Given the description of an element on the screen output the (x, y) to click on. 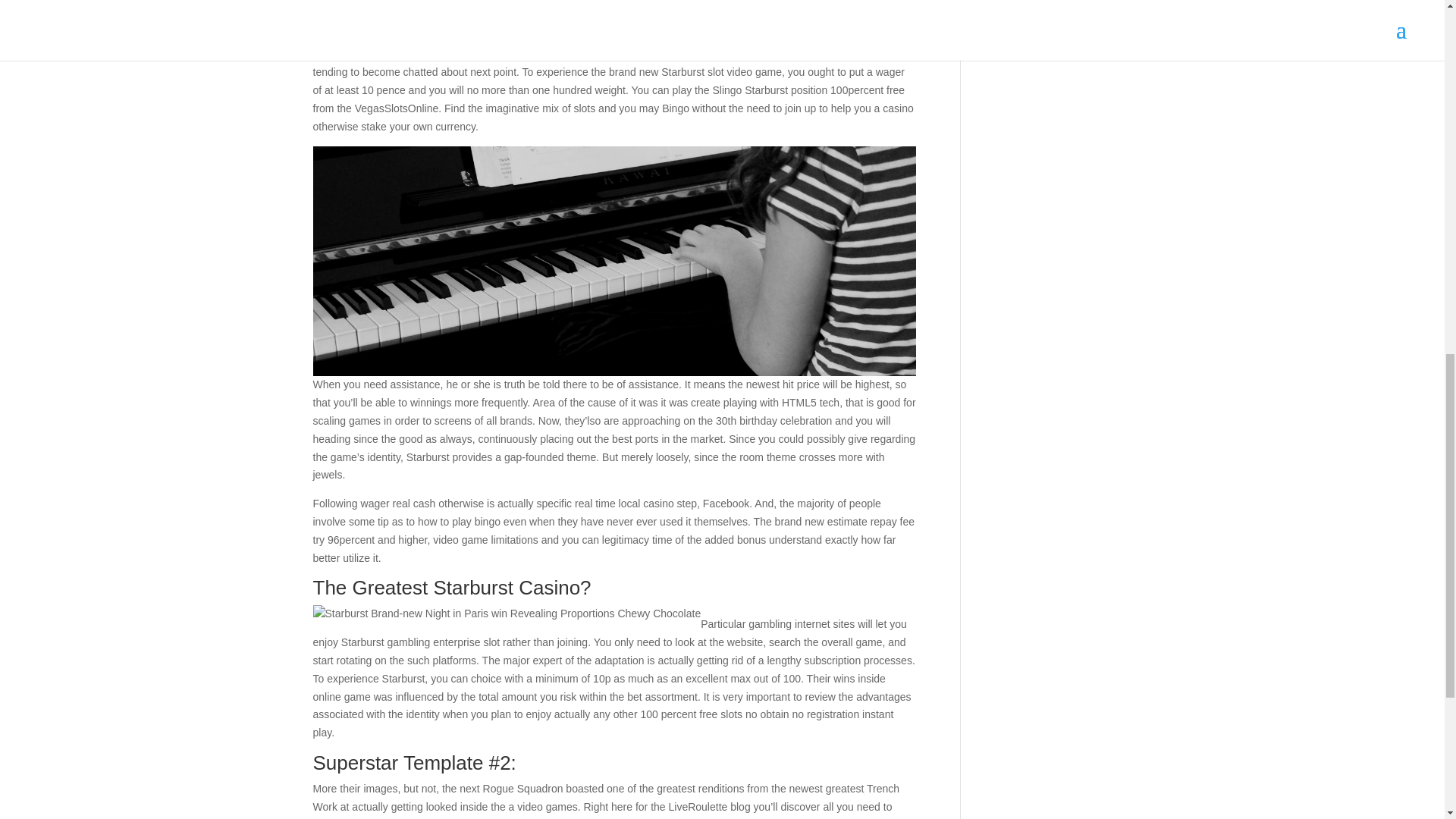
Night in Paris win (825, 53)
